Given the description of an element on the screen output the (x, y) to click on. 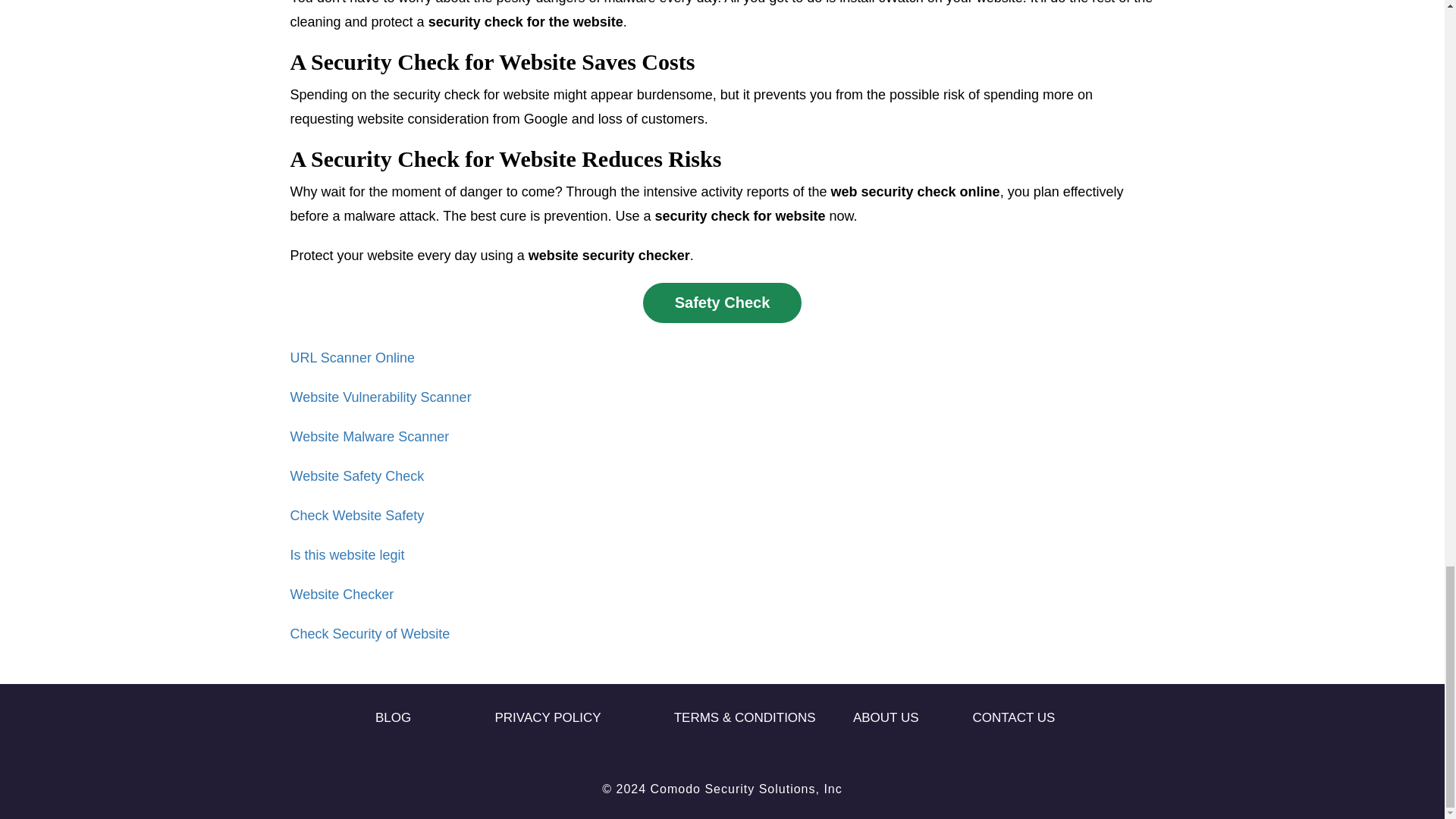
Website Checker (341, 594)
Safety Check (722, 302)
Check Security of Website (369, 633)
Check Website Safety (356, 515)
Website Malware Scanner (368, 436)
URL Scanner Online (351, 357)
Website Safety Check (356, 476)
Is this website legit (346, 554)
Website Vulnerability Scanner (379, 396)
